Given the description of an element on the screen output the (x, y) to click on. 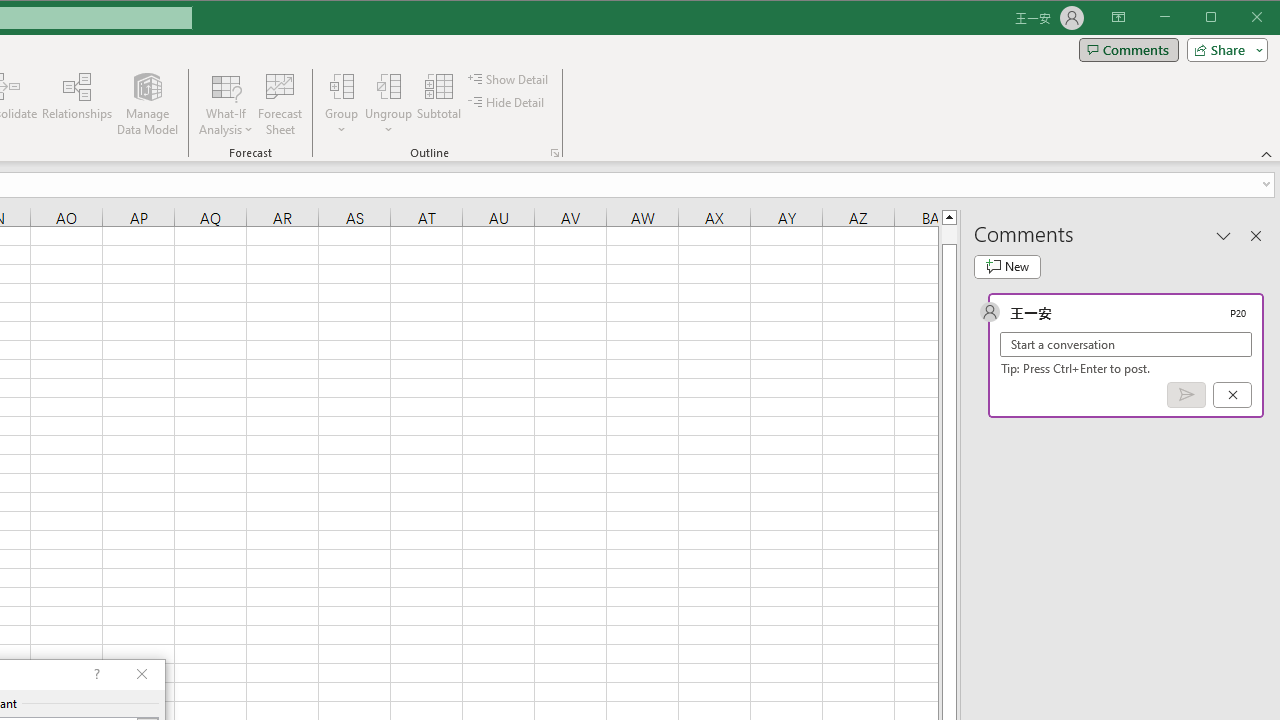
Page up (948, 234)
New comment (1007, 266)
Cancel (1232, 395)
